Given the description of an element on the screen output the (x, y) to click on. 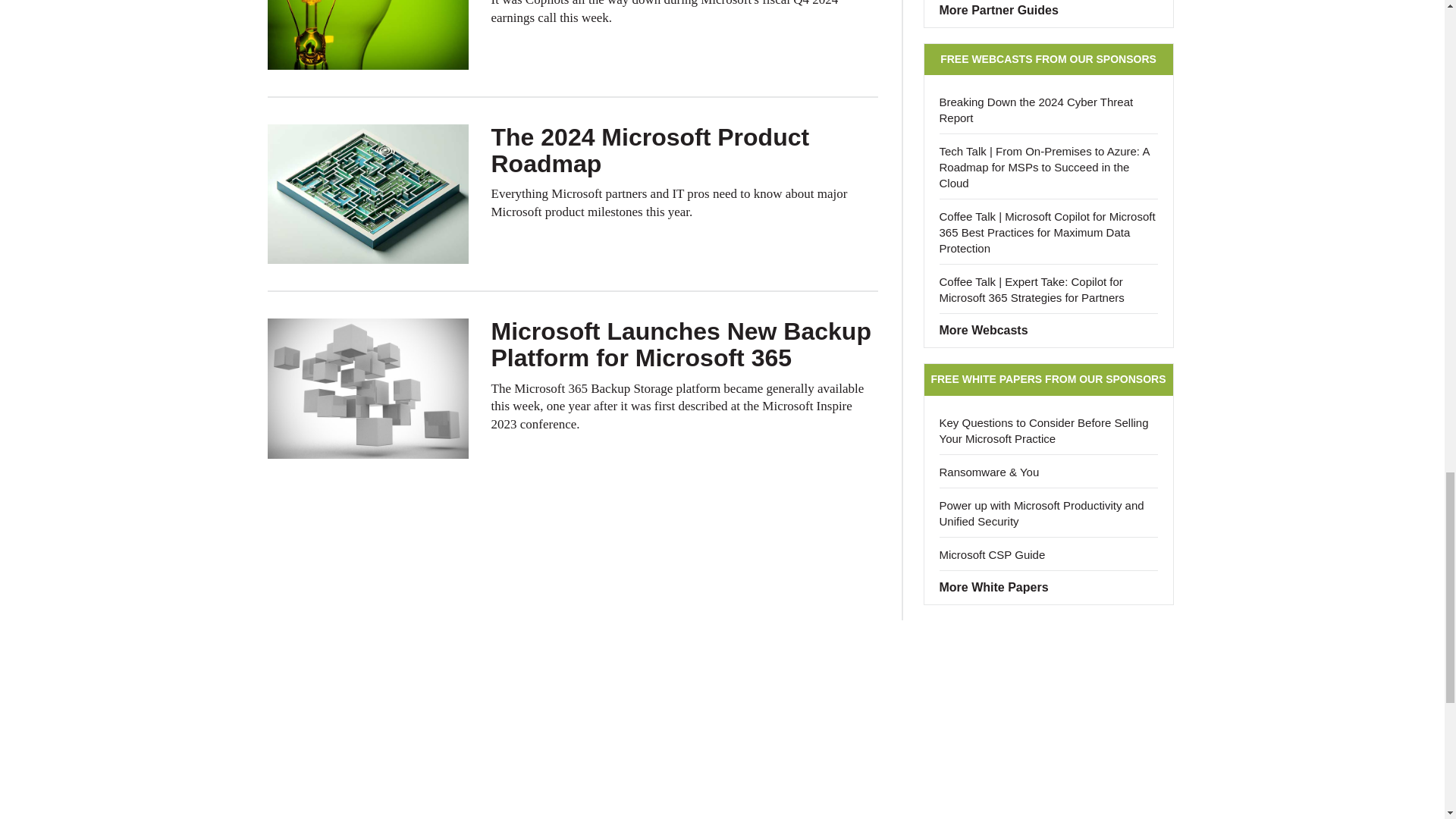
3rd party ad content (721, 672)
3rd party ad content (721, 771)
